Given the description of an element on the screen output the (x, y) to click on. 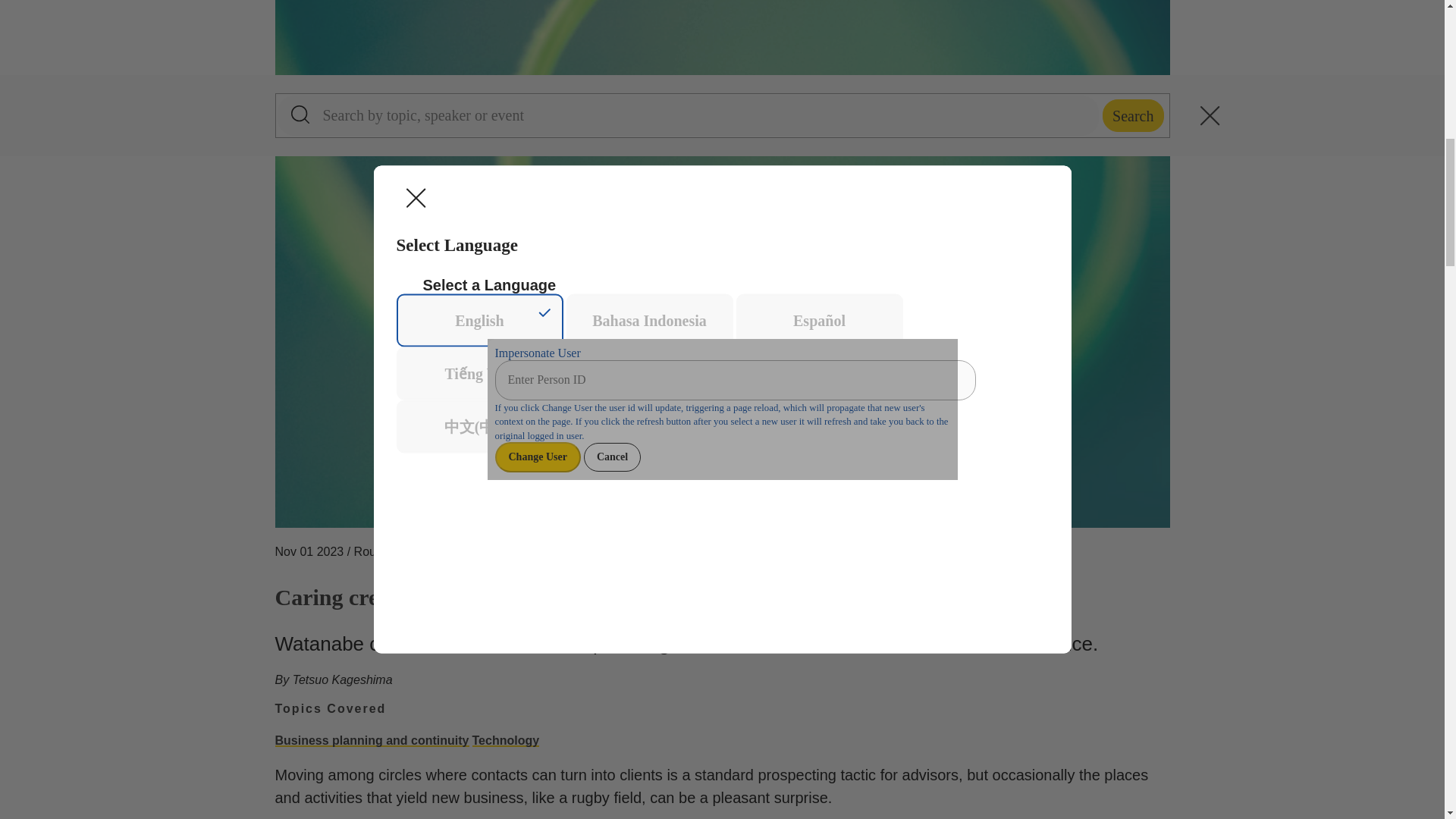
Tetsuo Kageshima (342, 679)
Business planning and continuity (371, 741)
